Given the description of an element on the screen output the (x, y) to click on. 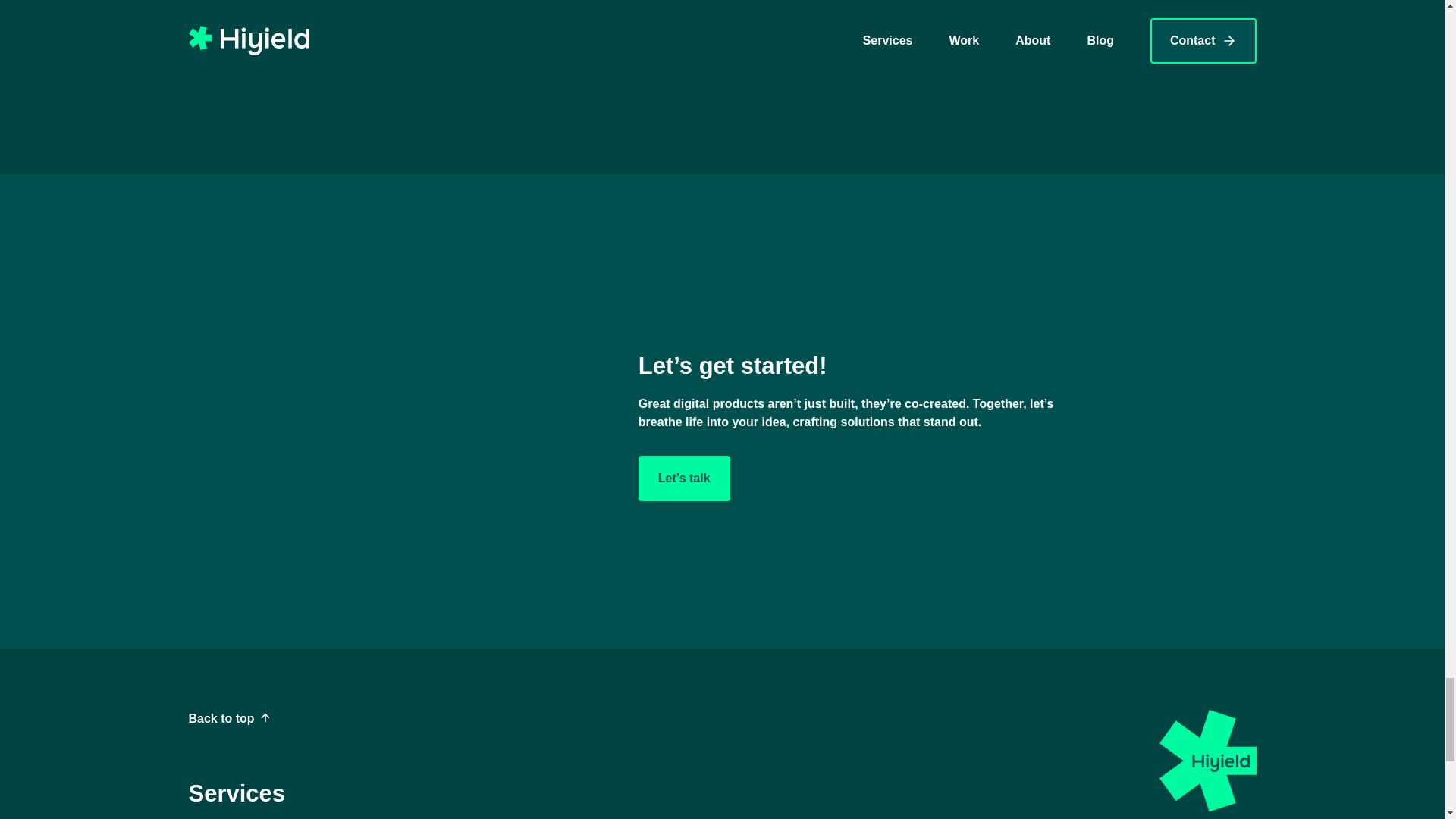
Services (236, 793)
Back to top (228, 719)
